Given the description of an element on the screen output the (x, y) to click on. 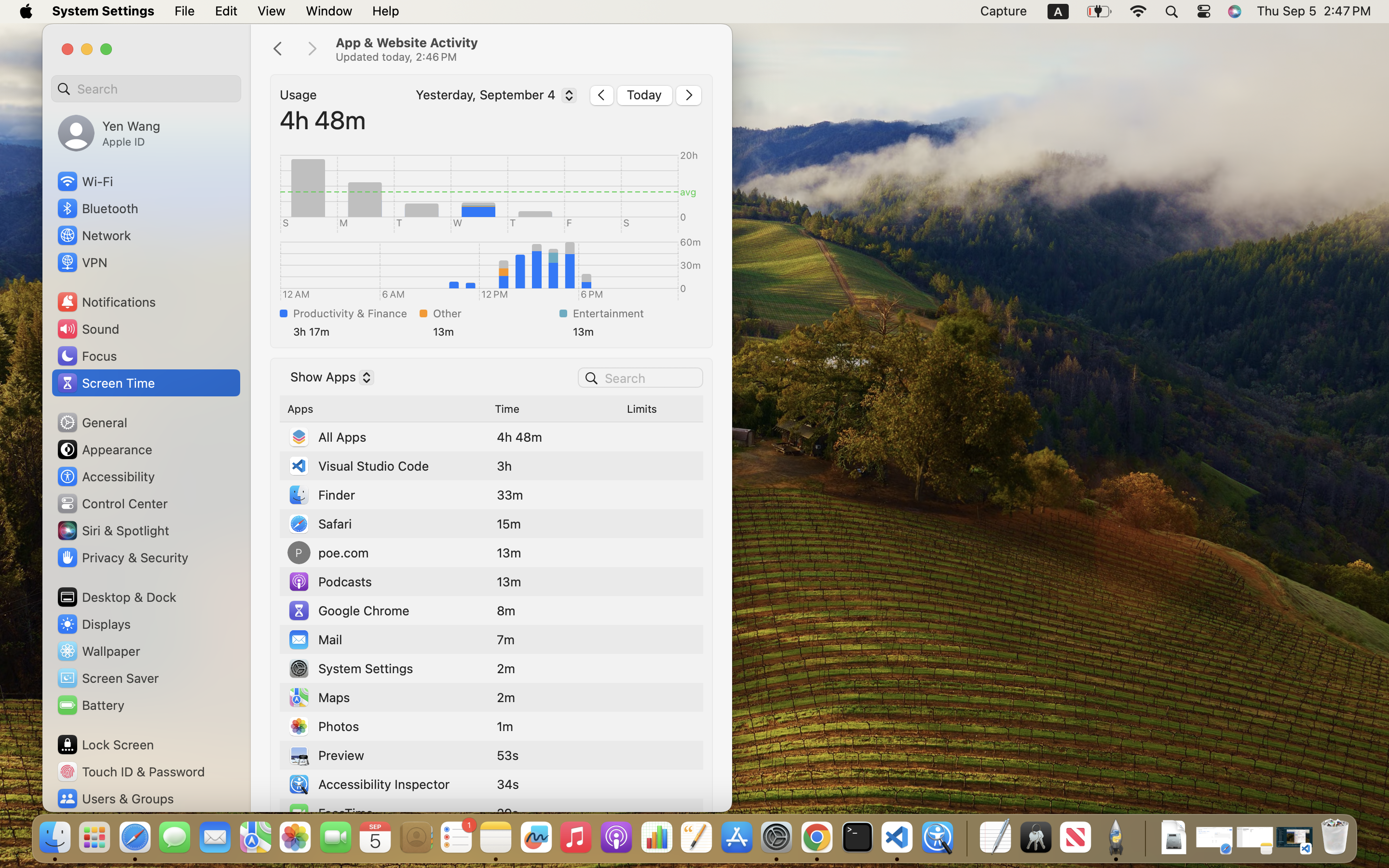
Battery Element type: AXStaticText (89, 704)
poe.com Element type: AXStaticText (327, 552)
Accessibility Inspector Element type: AXStaticText (368, 783)
Google Chrome Element type: AXStaticText (348, 610)
Sound Element type: AXStaticText (87, 328)
